Given the description of an element on the screen output the (x, y) to click on. 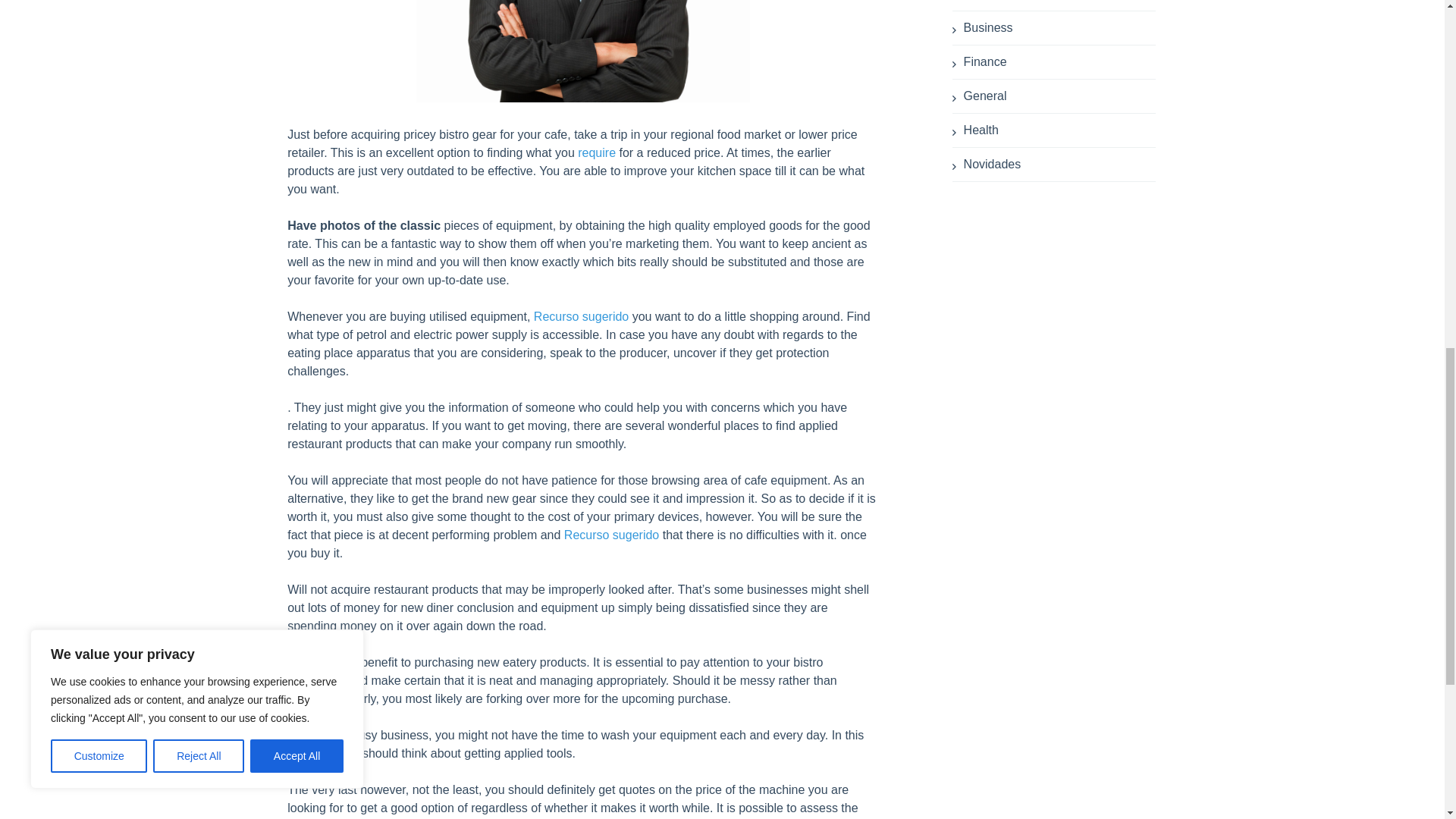
require (596, 152)
Recurso sugerido (611, 534)
Recurso sugerido (581, 316)
